Given the description of an element on the screen output the (x, y) to click on. 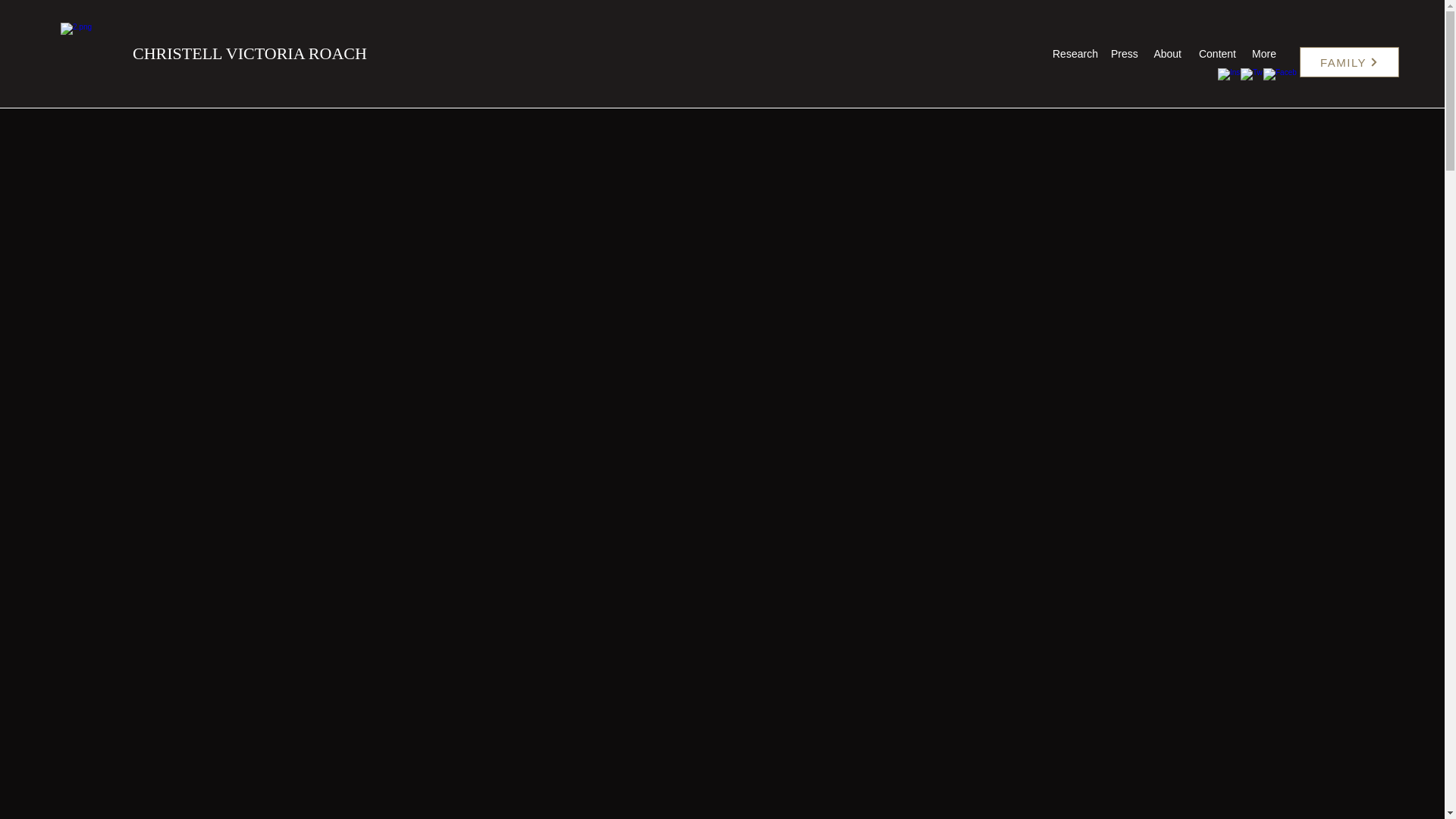
CHRISTELL VICTORIA ROACH (249, 53)
Press (1122, 53)
Content (1216, 53)
FAMILY (1349, 61)
Research (1074, 53)
About (1165, 53)
